Given the description of an element on the screen output the (x, y) to click on. 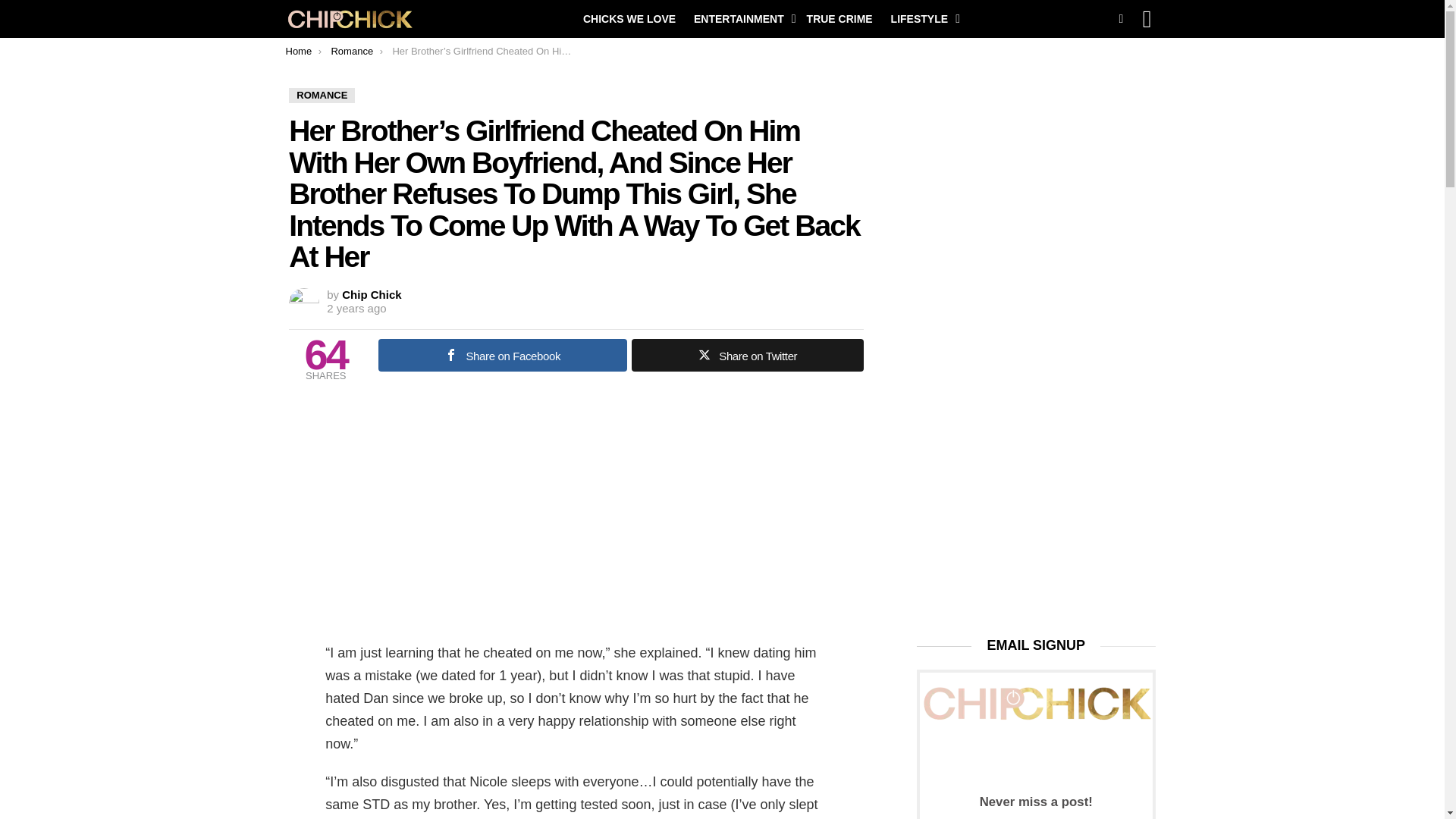
Home (298, 50)
December 11, 2022, 1:30 pm (355, 308)
Share on Twitter (747, 355)
Romance (351, 50)
ROMANCE (321, 95)
CHICKS WE LOVE (628, 18)
ENTERTAINMENT (740, 18)
Share on Facebook (502, 355)
Posts by Chip Chick (371, 294)
LIFESTYLE (921, 18)
TRUE CRIME (839, 18)
Chip Chick (371, 294)
